Given the description of an element on the screen output the (x, y) to click on. 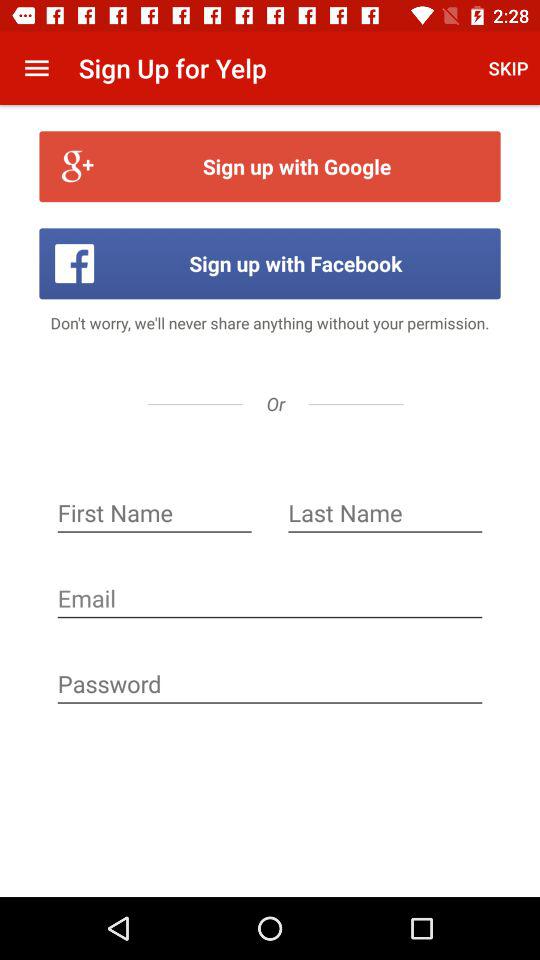
open item to the left of the sign up for app (36, 68)
